Given the description of an element on the screen output the (x, y) to click on. 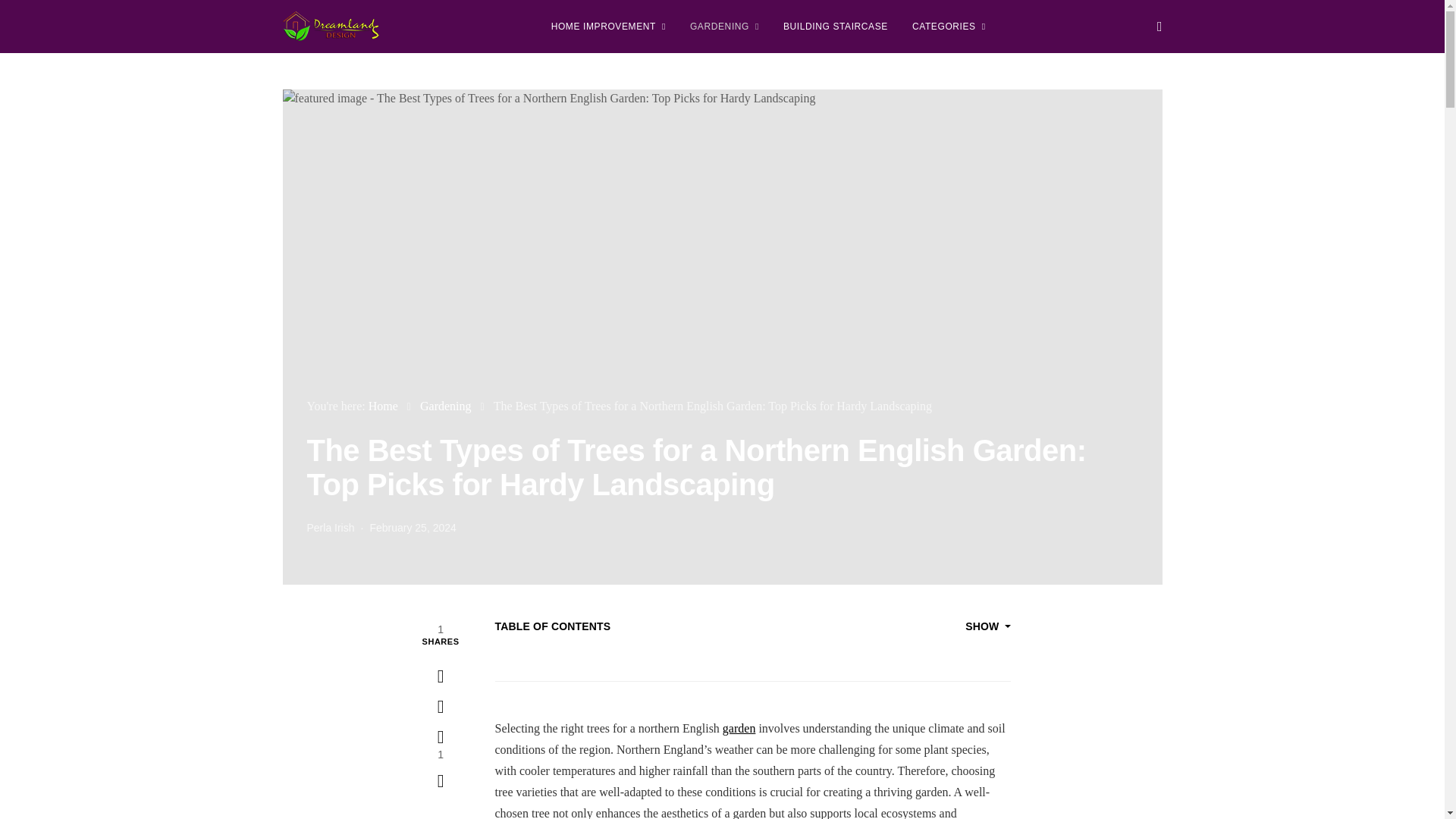
HOME IMPROVEMENT (608, 26)
View all posts by Perla Irish (329, 527)
